Given the description of an element on the screen output the (x, y) to click on. 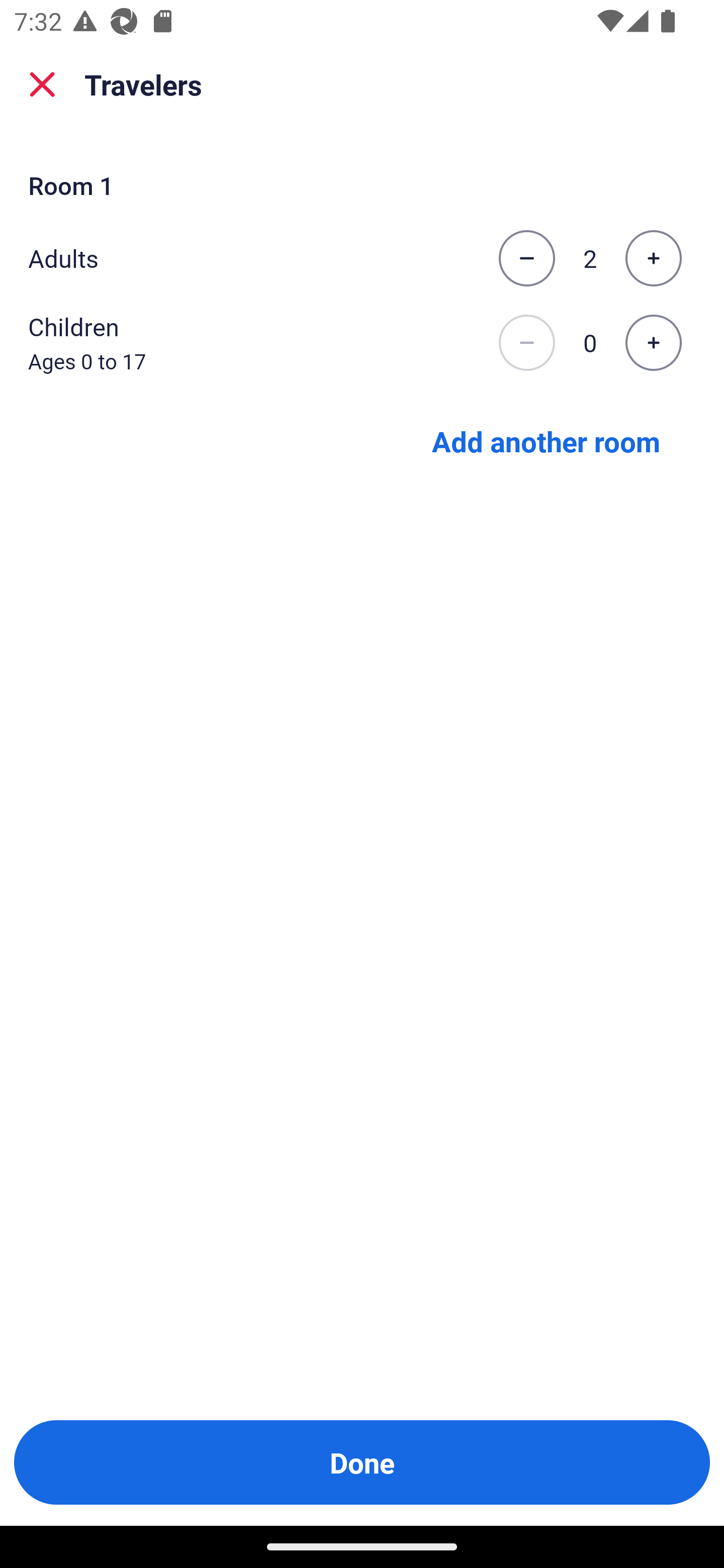
close (42, 84)
Decrease the number of adults (526, 258)
Increase the number of adults (653, 258)
Decrease the number of children (526, 343)
Increase the number of children (653, 343)
Add another room (545, 440)
Done (361, 1462)
